Given the description of an element on the screen output the (x, y) to click on. 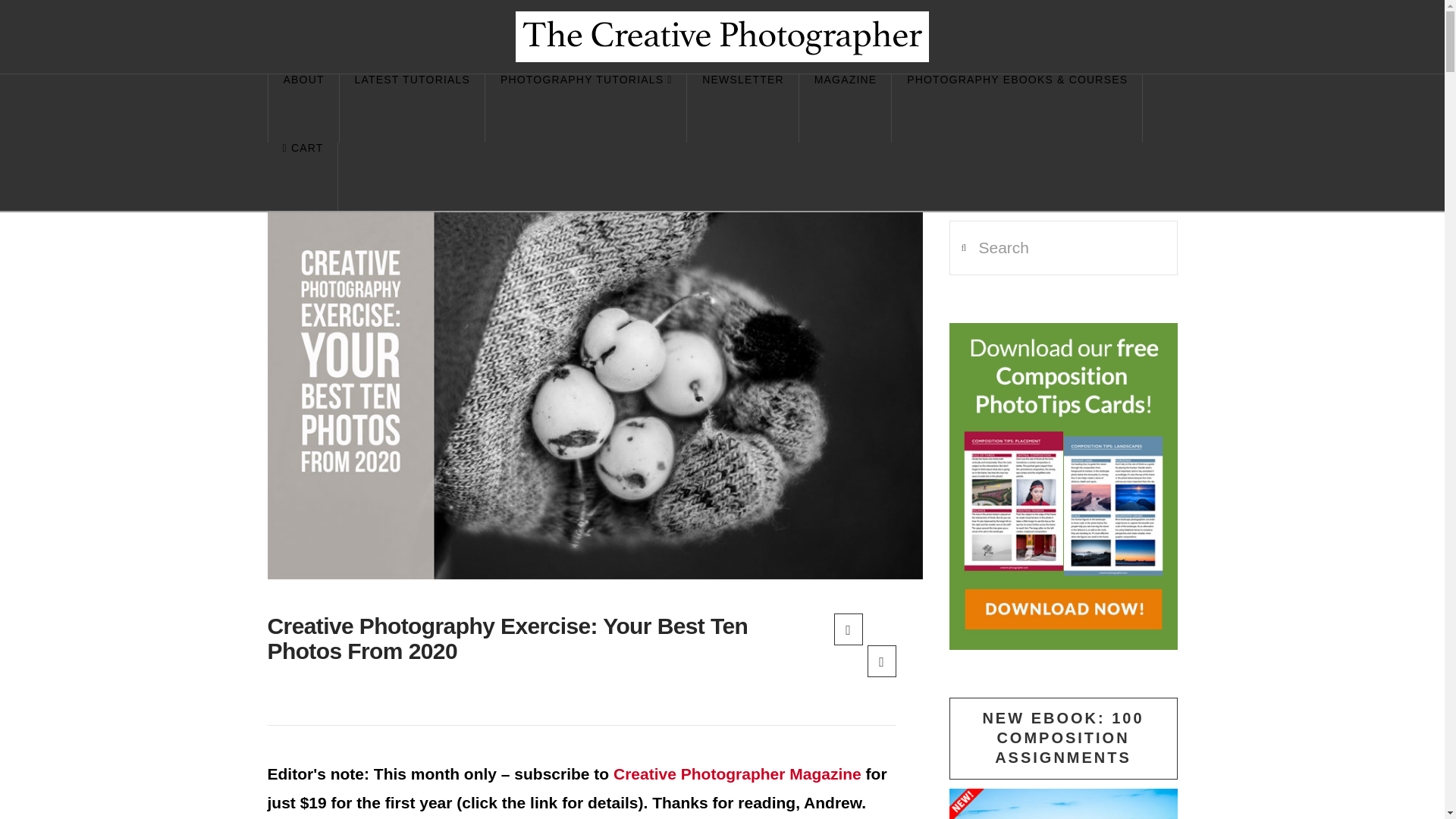
LATEST TUTORIALS (411, 108)
NEWSLETTER (742, 108)
CART (301, 176)
MAGAZINE (845, 108)
ABOUT (302, 108)
PHOTOGRAPHY TUTORIALS (585, 108)
